Given the description of an element on the screen output the (x, y) to click on. 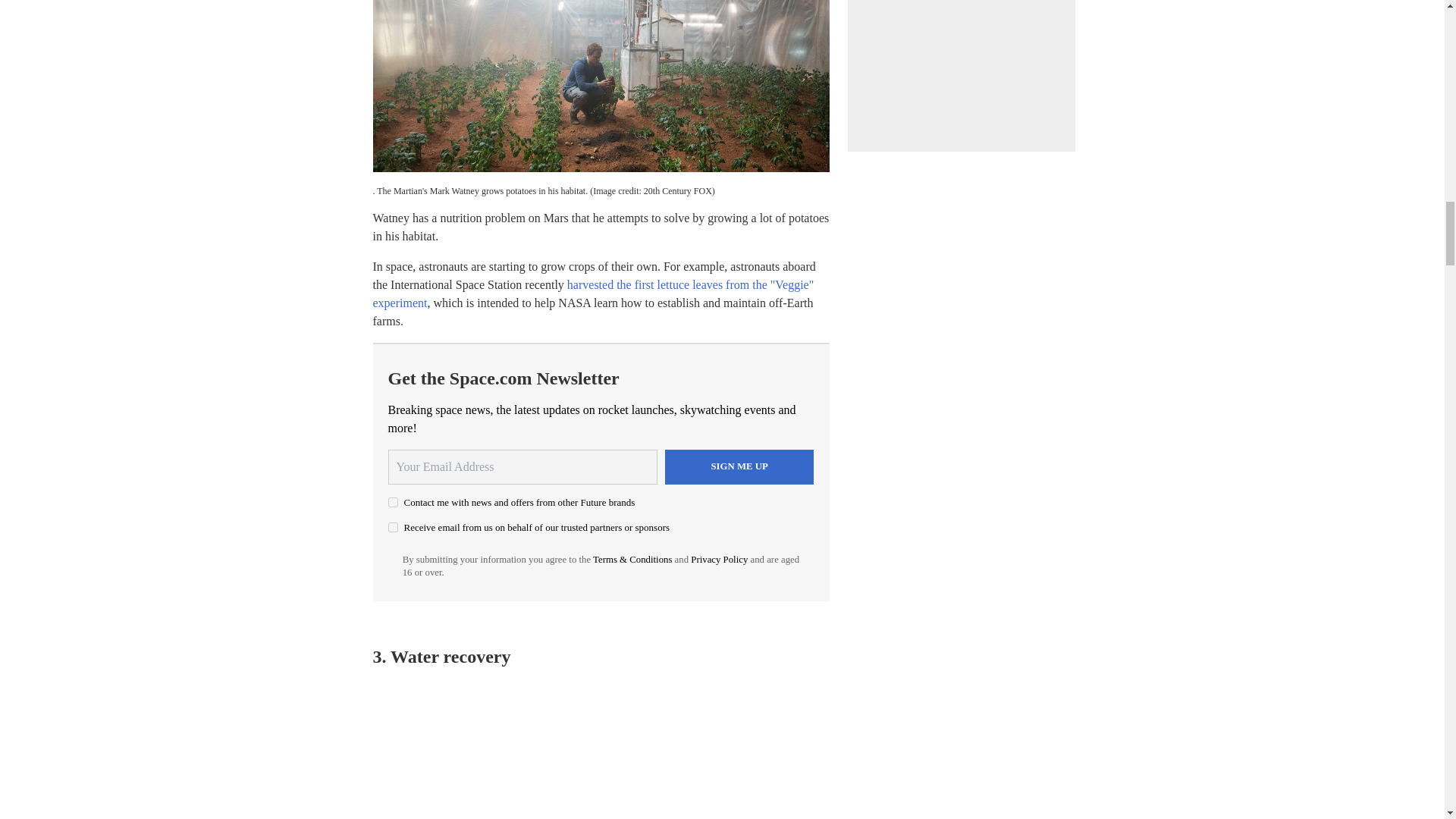
on (392, 501)
Sign me up (739, 466)
on (392, 527)
